Given the description of an element on the screen output the (x, y) to click on. 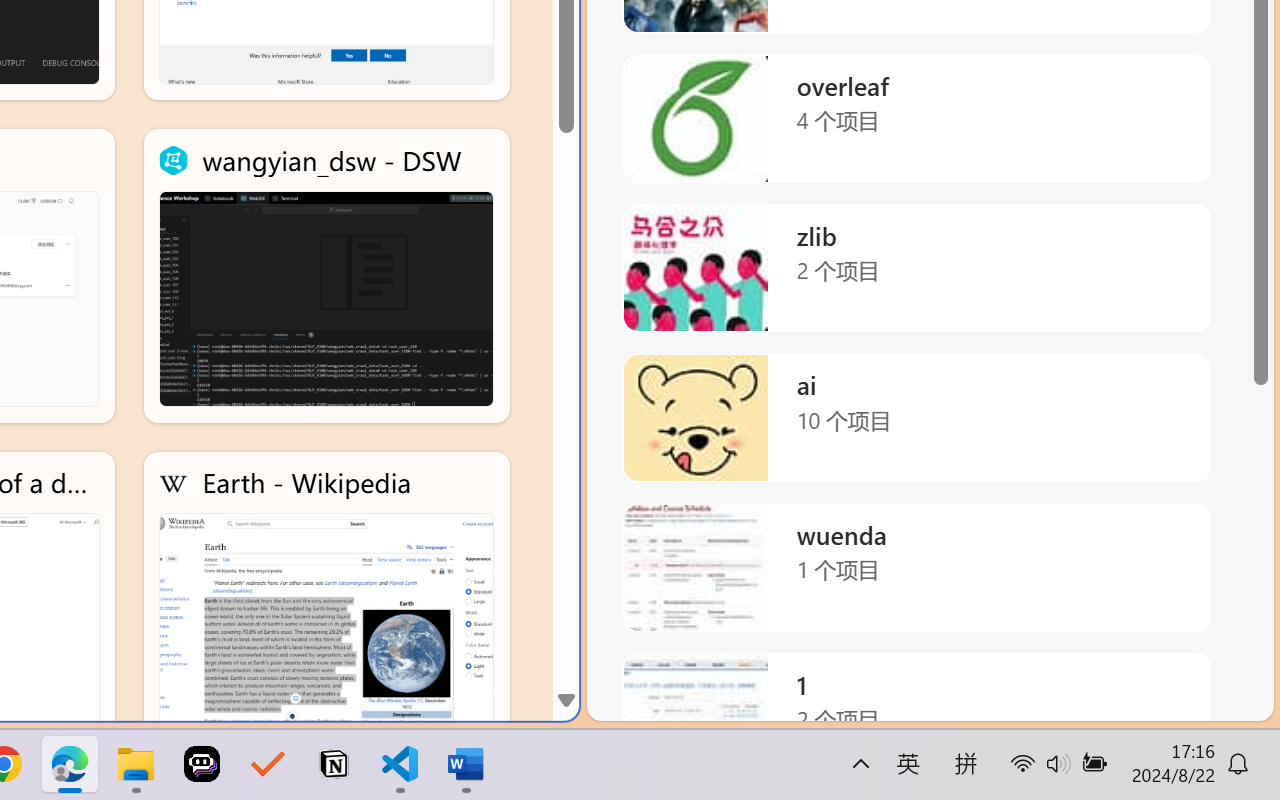
wangyian_dsw - DSW (326, 275)
Earth - Wikipedia (326, 598)
